Given the description of an element on the screen output the (x, y) to click on. 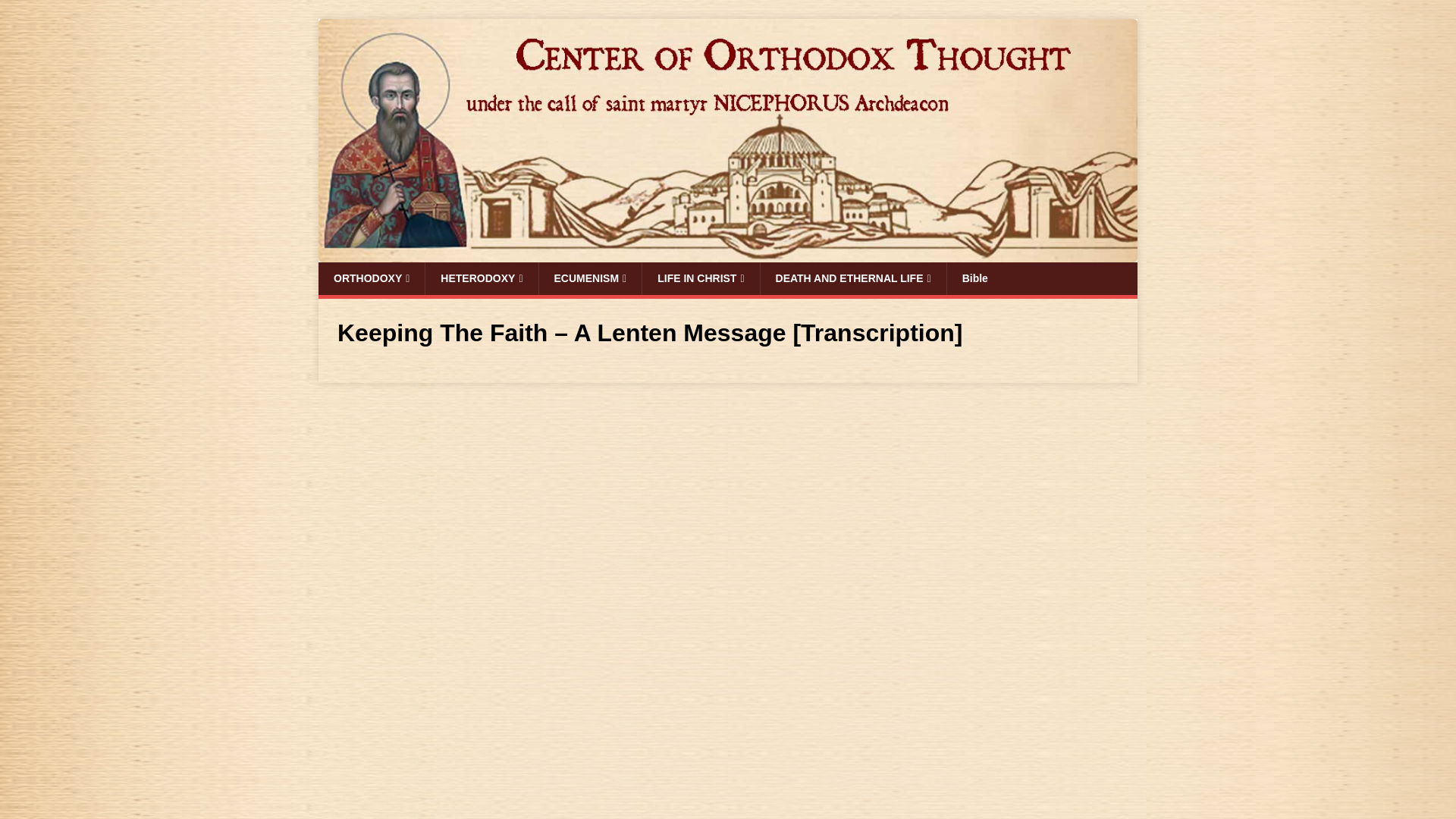
LIFE IN CHRIST (700, 278)
Bible (974, 278)
HETERODOXY (481, 278)
NICEFOR.INFO Center of Orthodox Thought (727, 254)
ECUMENISM (590, 278)
ORTHODOXY (371, 278)
DEATH AND ETHERNAL LIFE (853, 278)
